Given the description of an element on the screen output the (x, y) to click on. 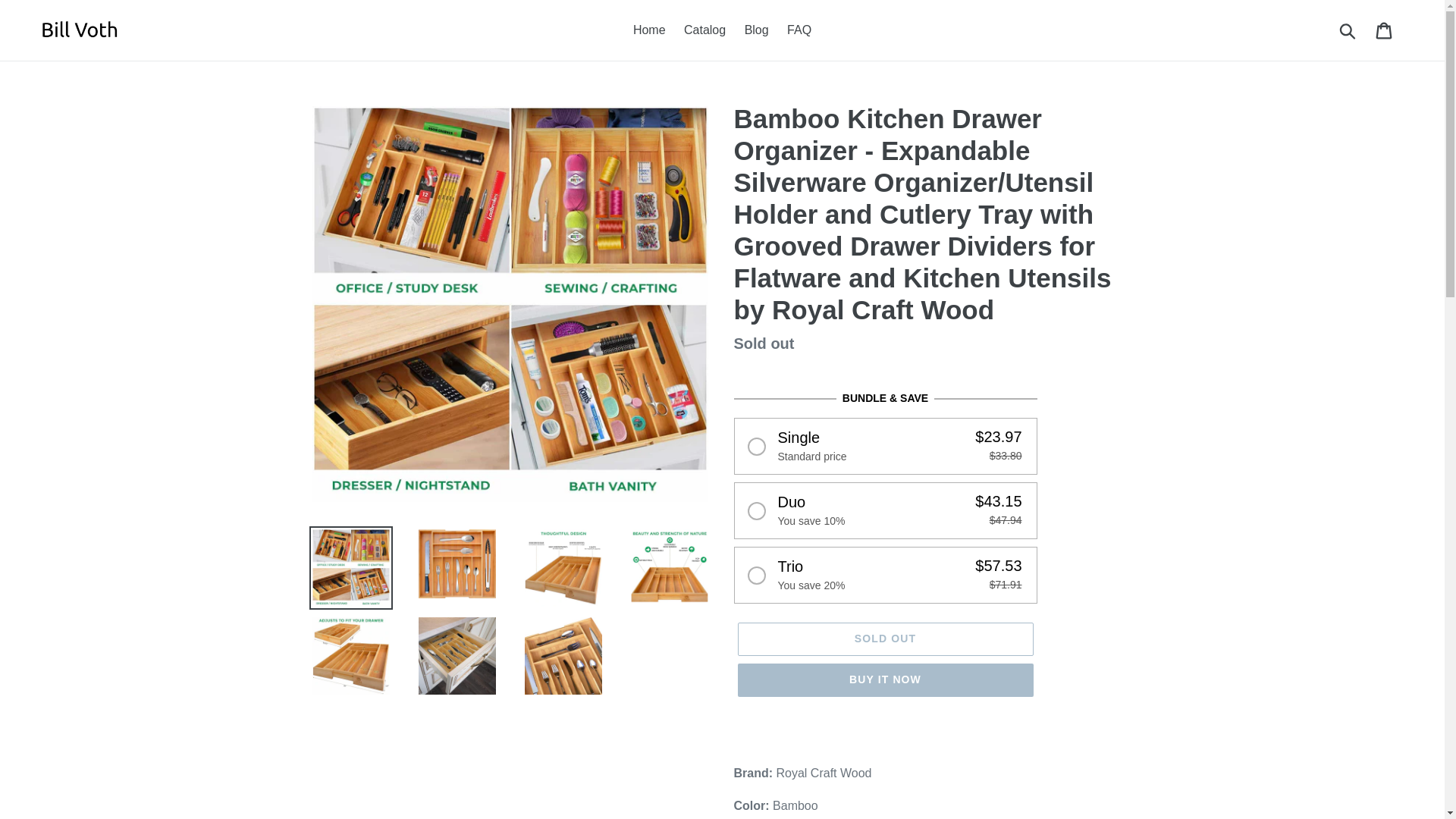
BUY IT NOW (884, 679)
Cart (1385, 29)
Catalog (705, 29)
SOLD OUT (884, 639)
FAQ (798, 29)
Submit (1348, 29)
Blog (756, 29)
Home (649, 29)
